Given the description of an element on the screen output the (x, y) to click on. 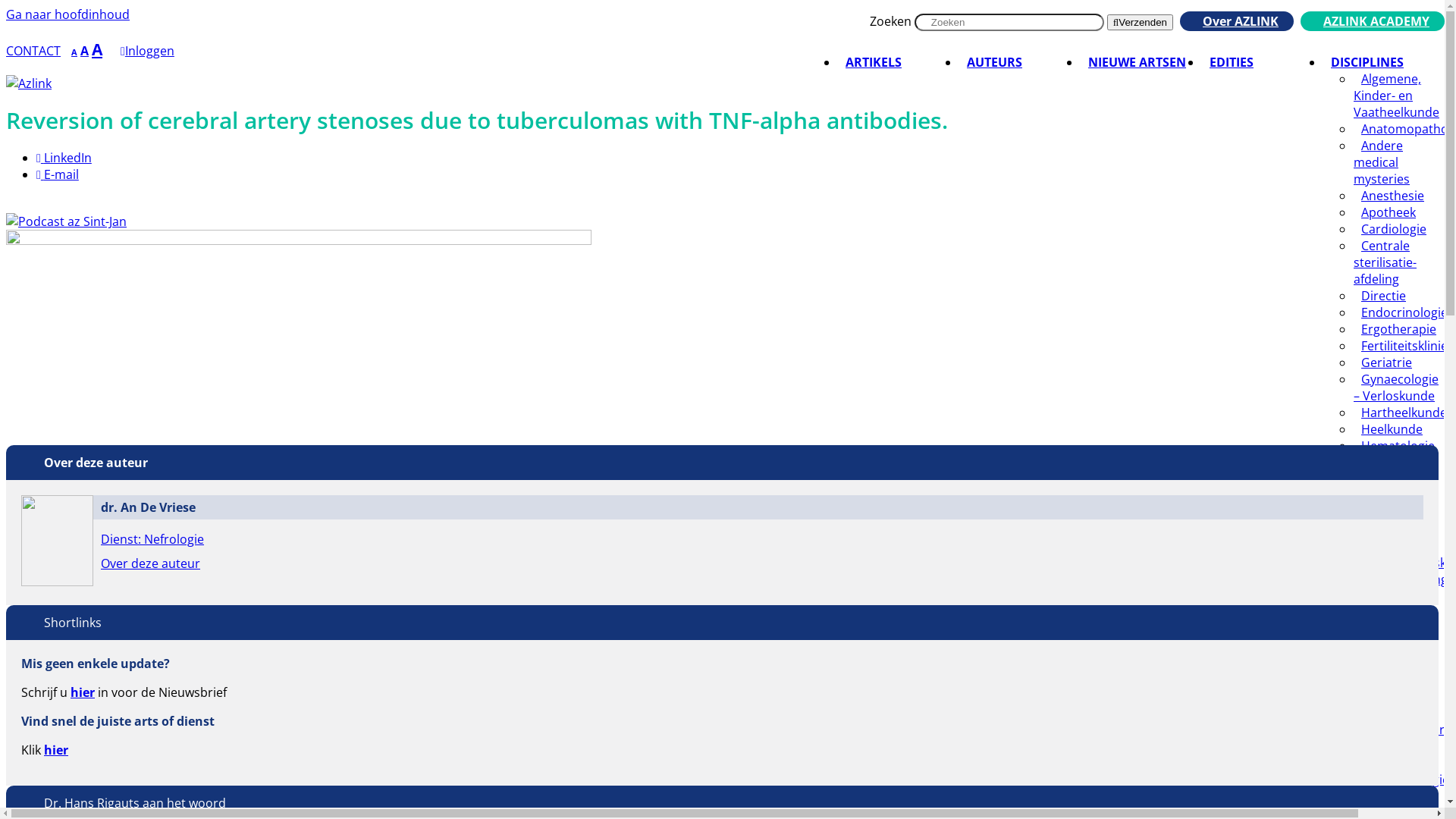
Neonatologie Element type: text (1399, 762)
Materniteit Element type: text (1392, 679)
hier Element type: text (55, 749)
AUTEURS Element type: text (994, 61)
Endocrinologie Element type: text (1404, 312)
Algemene, Kinder- en Vaatheelkunde Element type: text (1399, 95)
Directie Element type: text (1383, 295)
Ergotherapie Element type: text (1398, 328)
Maag-, Darm- en Leverziekten Element type: text (1395, 646)
Heelkunde Element type: text (1391, 428)
hier Element type: text (82, 692)
Ga naar hoofdinhoud Element type: text (67, 14)
Anesthesie Element type: text (1392, 195)
Nefrologie Element type: text (1390, 745)
Dienst: Nefrologie Element type: text (151, 538)
Cardiologie Element type: text (1393, 228)
Andere medical mysteries Element type: text (1385, 162)
Geriatrie Element type: text (1386, 362)
A
Lettertype grootte resetten. Element type: text (84, 50)
Over deze auteur Element type: text (150, 563)
Centrale sterilisatie-afdeling Element type: text (1384, 262)
Verzenden Element type: text (1140, 22)
E-mail Element type: text (57, 174)
CONTACT Element type: text (33, 50)
Inloggen Element type: text (147, 50)
ARTIKELS Element type: text (873, 61)
Intensieve Zorgen Element type: text (1386, 503)
A
Lettertype grootte verkleinen. Element type: text (74, 51)
Inwendige Ziekten Element type: text (1386, 537)
Apotheek Element type: text (1388, 211)
Over AZLINK Element type: text (1236, 21)
LinkedIn Element type: text (63, 157)
Hartheelkunde Element type: text (1403, 412)
NIEUWE ARTSEN Element type: text (1136, 61)
Huidziekten Element type: text (1395, 462)
ICT Element type: text (1369, 478)
Logopedie en Audiologie Element type: text (1395, 604)
EDITIES Element type: text (1231, 61)
A
Lettertype grootte vergroten. Element type: text (96, 48)
DISCIPLINES Element type: text (1367, 61)
AZLINK ACADEMY Element type: text (1372, 21)
Neurologie Element type: text (1392, 795)
Hematologie Element type: text (1397, 445)
